Given the description of an element on the screen output the (x, y) to click on. 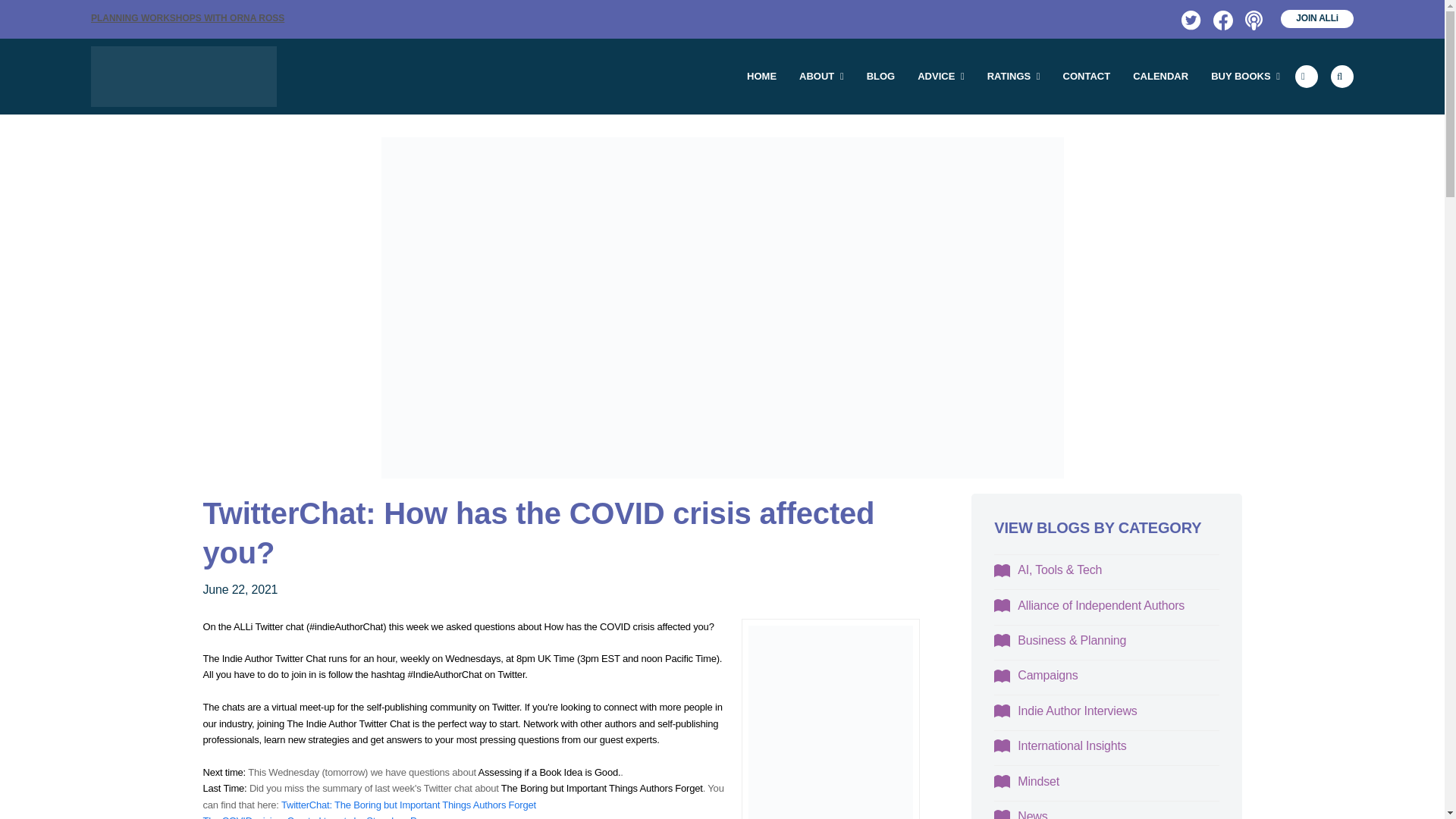
PLANNING WORKSHOPS WITH ORNA ROSS (186, 18)
JOIN ALLi (1317, 18)
CONTACT (1086, 76)
HOME (761, 76)
RATINGS (1013, 76)
ADVICE (940, 76)
BLOG (881, 76)
CALENDAR (1160, 76)
Twitter (1189, 18)
